Given the description of an element on the screen output the (x, y) to click on. 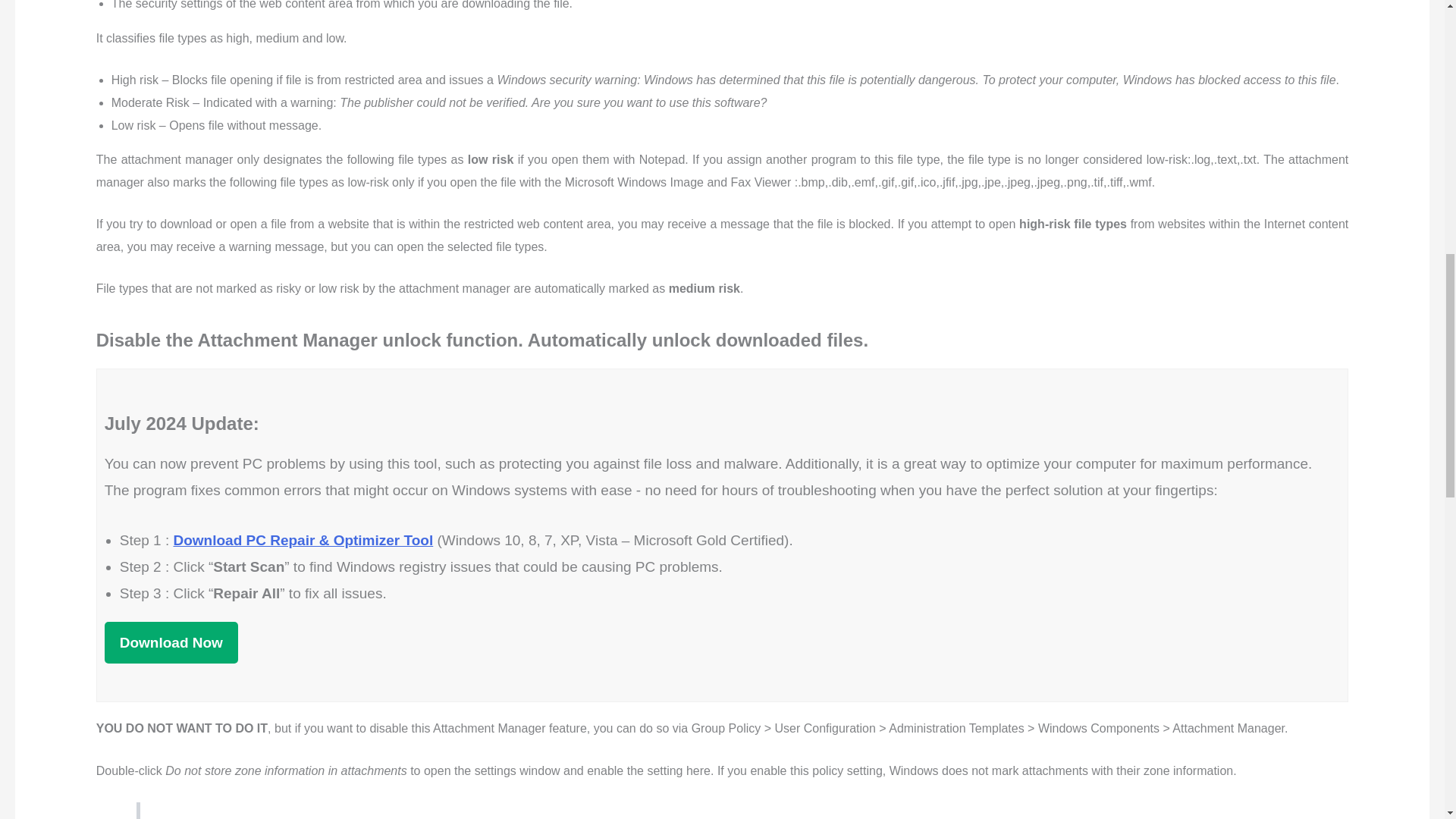
Download Now (171, 642)
